Given the description of an element on the screen output the (x, y) to click on. 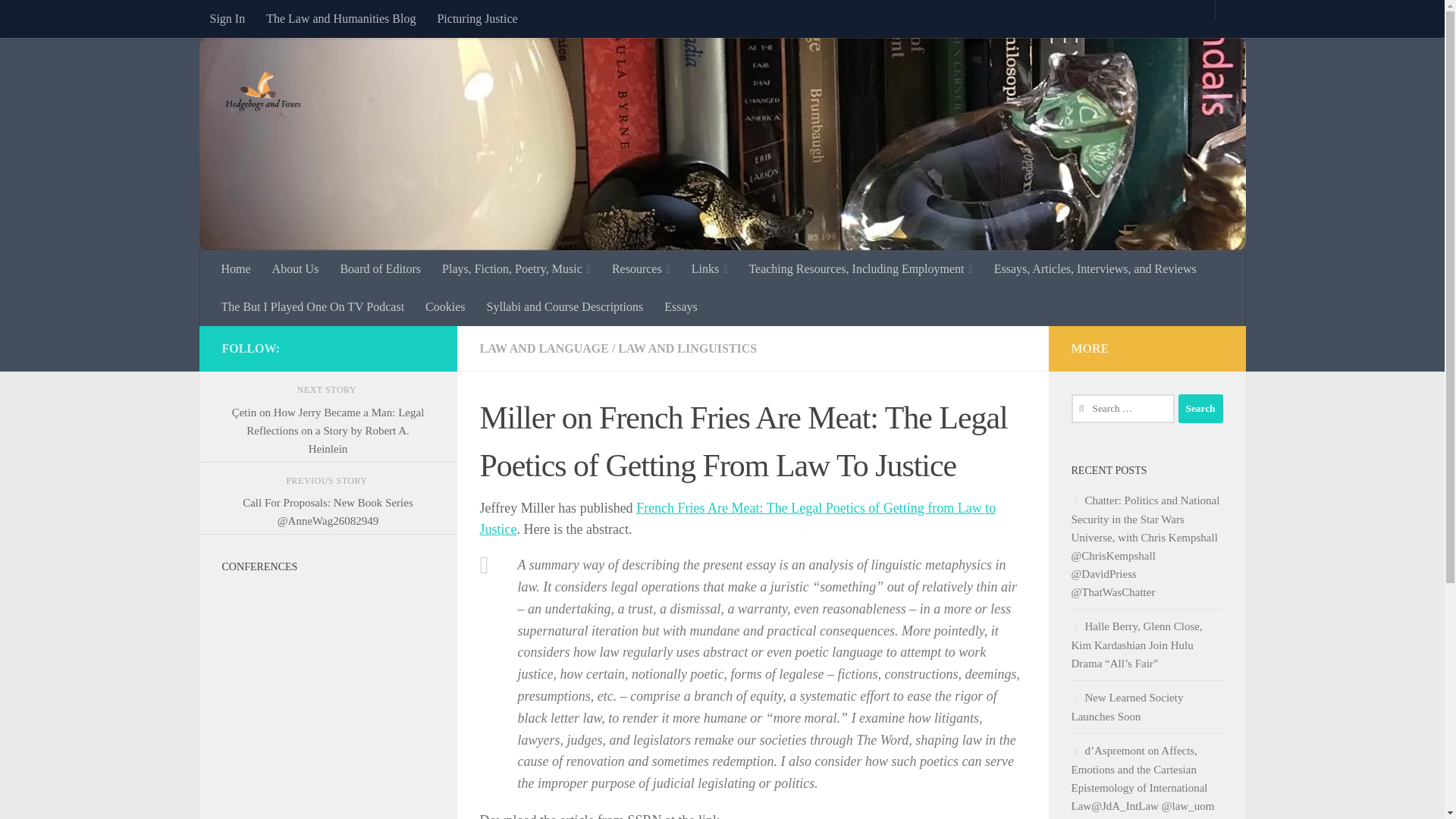
Home (236, 269)
Sign In (227, 18)
Resources (641, 269)
Board of Editors (379, 269)
The Law and Humanities Blog (341, 18)
Picturing Justice (476, 18)
Plays, Fiction, Poetry, Music (515, 269)
Search (1200, 408)
About Us (296, 269)
Skip to content (59, 20)
Search (1200, 408)
